Given the description of an element on the screen output the (x, y) to click on. 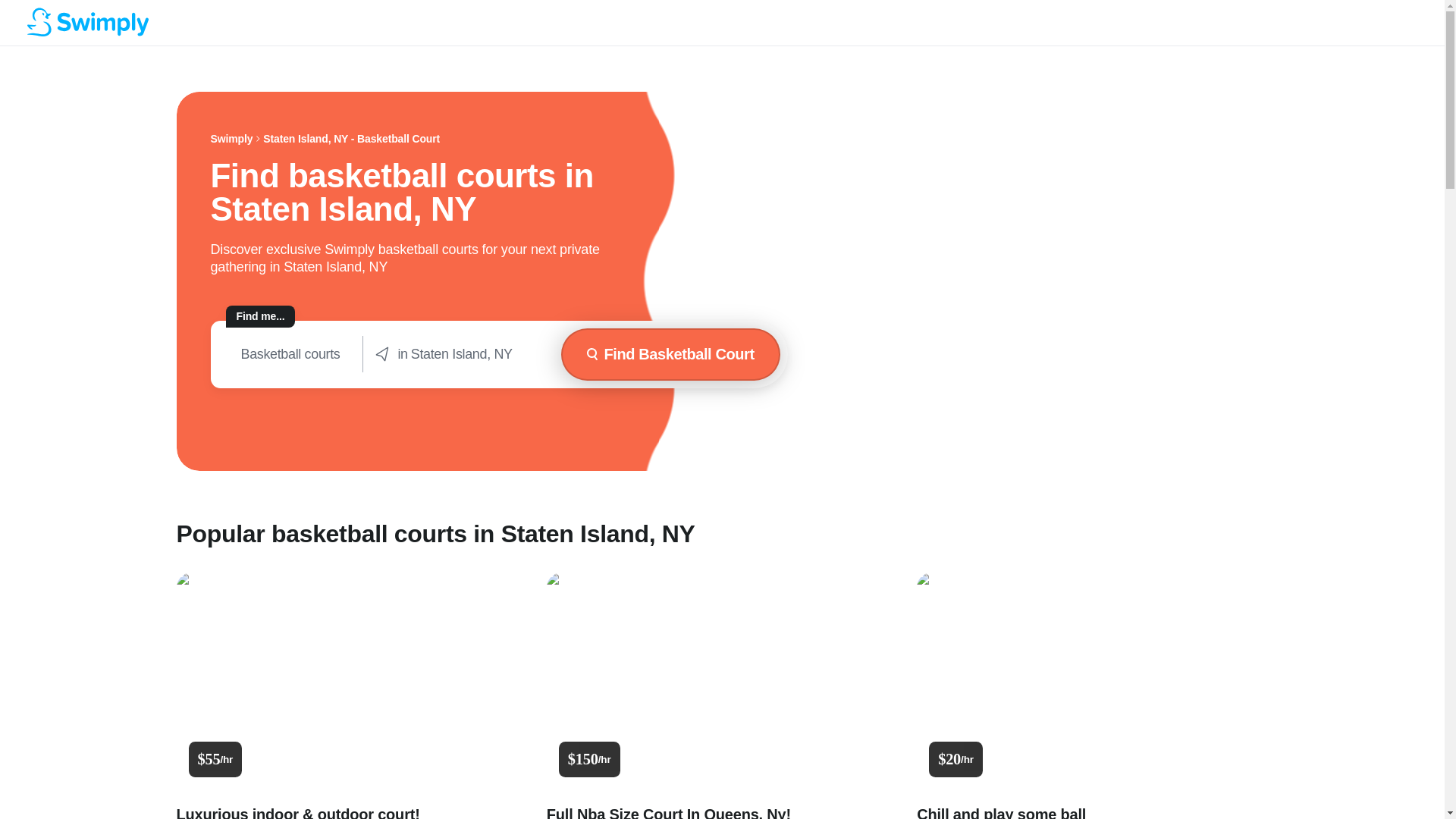
Basketball courts (290, 354)
Swimply (232, 138)
Staten Island, NY - Basketball Court (351, 138)
Find Basketball Court (669, 354)
